Given the description of an element on the screen output the (x, y) to click on. 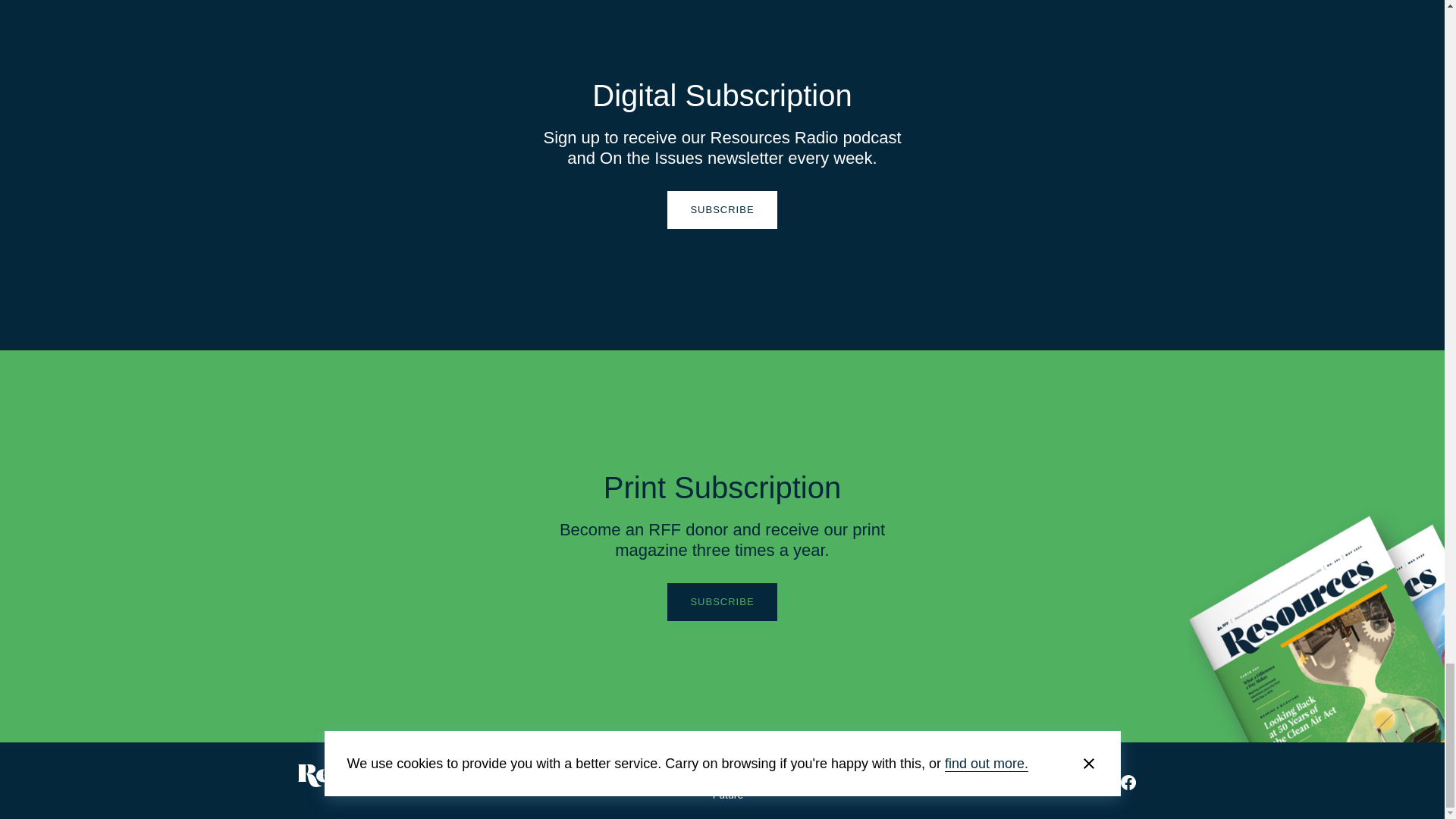
RESOURCES (361, 775)
SUBSCRIBE (721, 601)
SUBSCRIBE (721, 209)
Published since 1959 by Resources for the Future (727, 782)
